Given the description of an element on the screen output the (x, y) to click on. 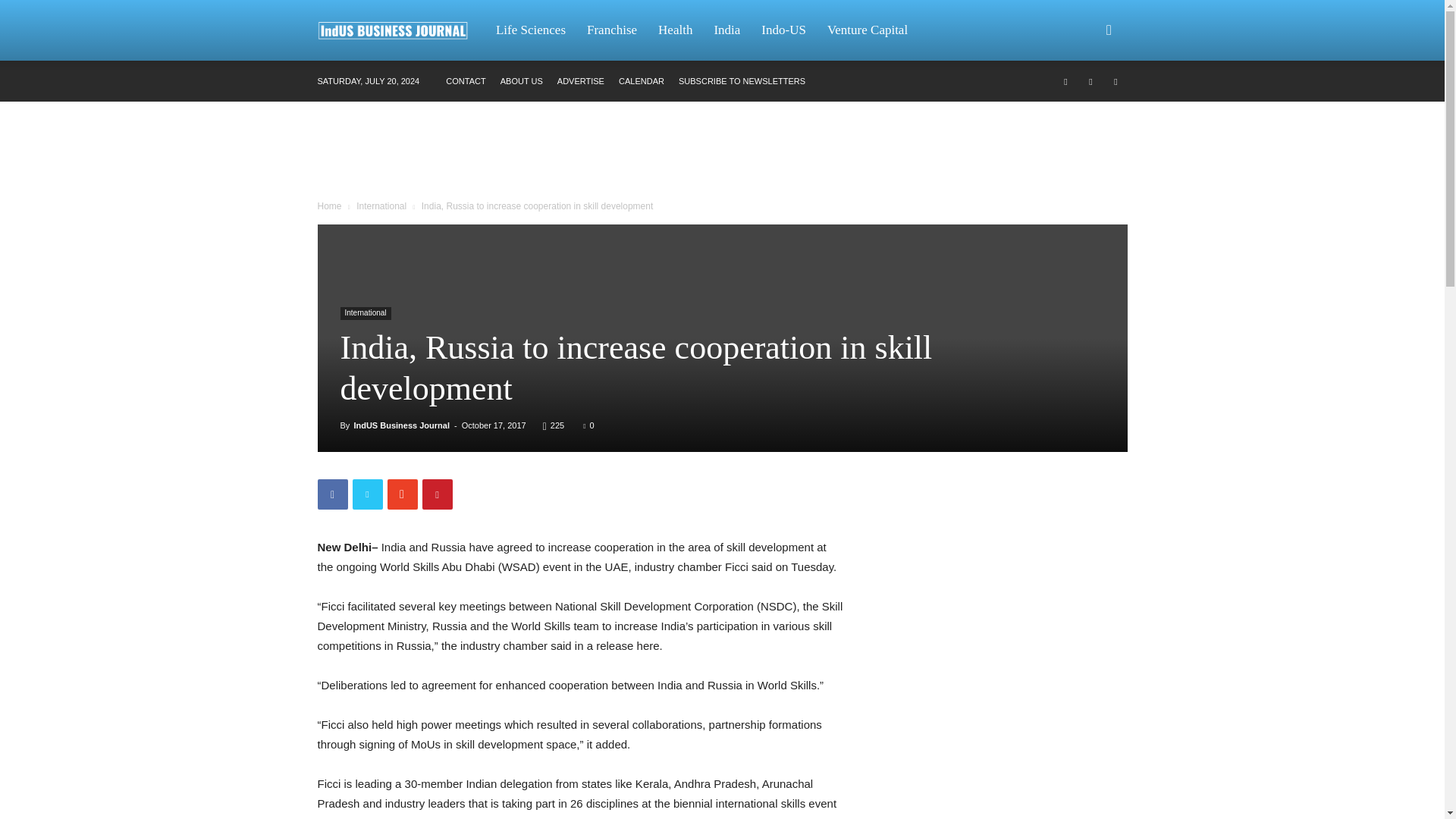
Indo-US (783, 30)
Home (328, 205)
View all posts in International (381, 205)
Search (1085, 102)
Health (675, 30)
IndUS Business Journal (401, 424)
Life Sciences (530, 30)
IndUS Business Journal (400, 30)
0 (588, 424)
Advertisement (721, 153)
ABOUT US (521, 80)
International (364, 313)
CONTACT (464, 80)
CALENDAR (640, 80)
SUBSCRIBE TO NEWSLETTERS (741, 80)
